Given the description of an element on the screen output the (x, y) to click on. 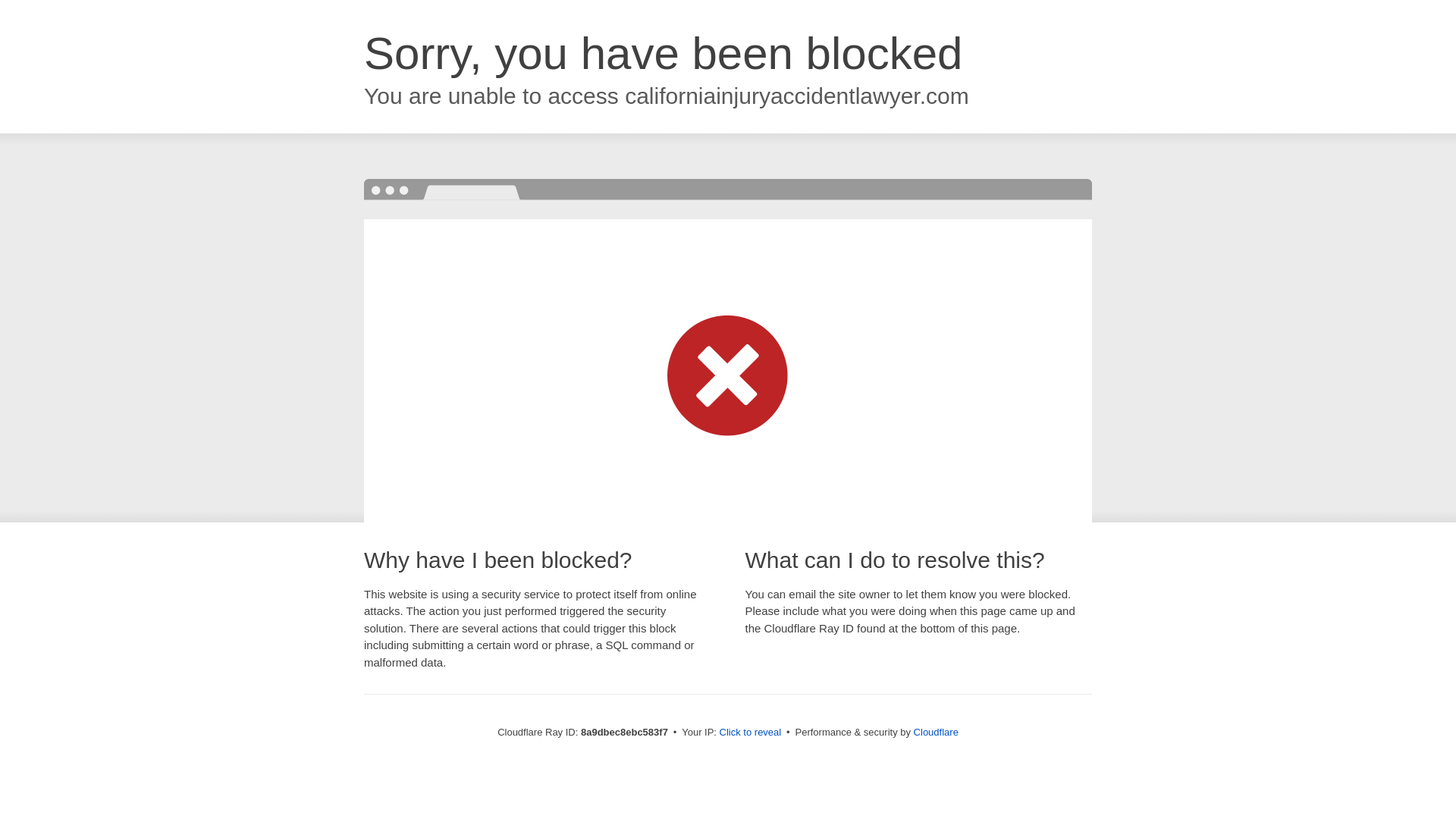
Click to reveal (750, 732)
Cloudflare (936, 731)
